Given the description of an element on the screen output the (x, y) to click on. 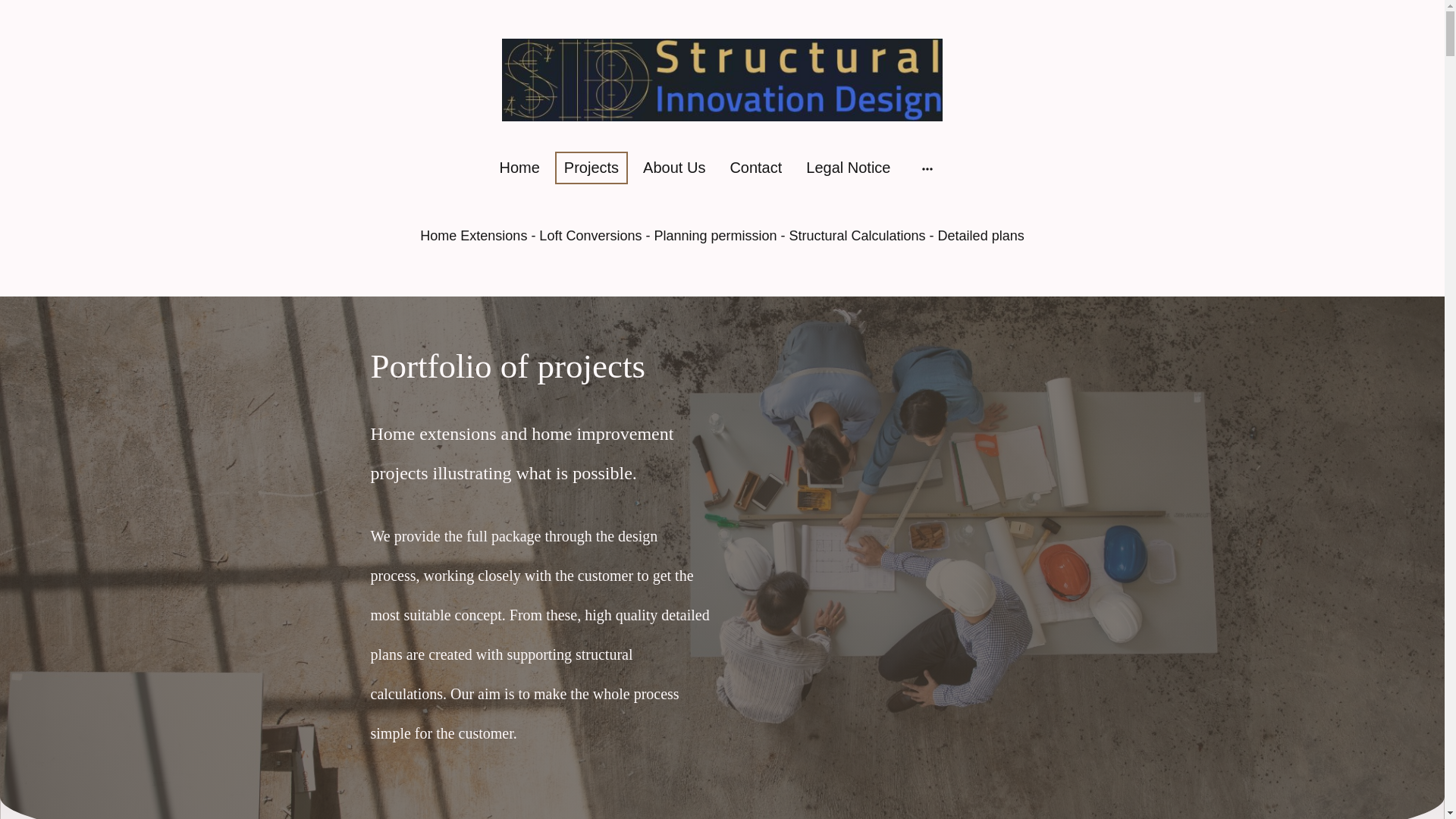
Legal Notice (847, 167)
Home (519, 167)
Projects (591, 167)
About Us (673, 167)
Contact (755, 167)
